Given the description of an element on the screen output the (x, y) to click on. 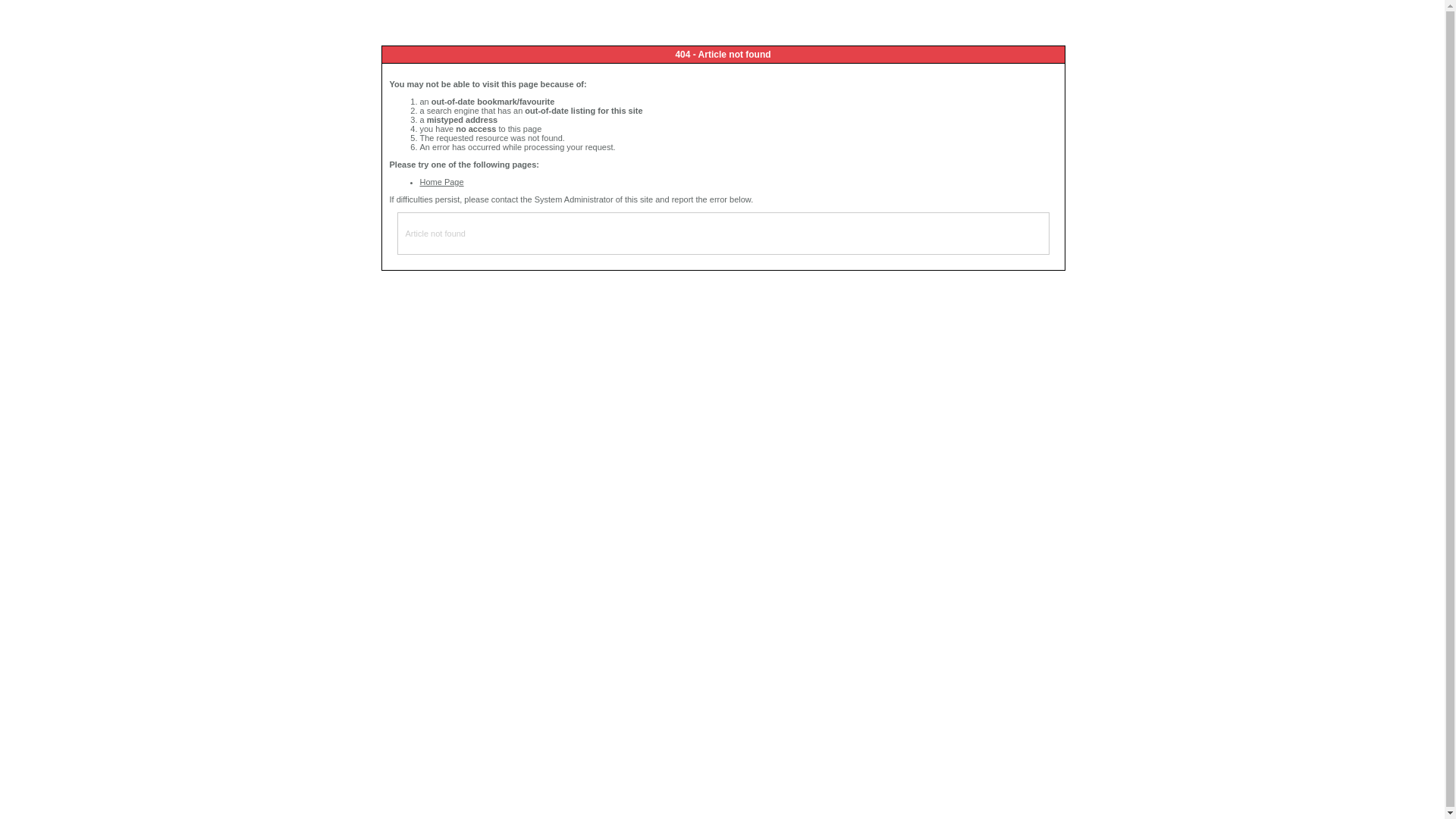
Home Page Element type: text (442, 181)
